Given the description of an element on the screen output the (x, y) to click on. 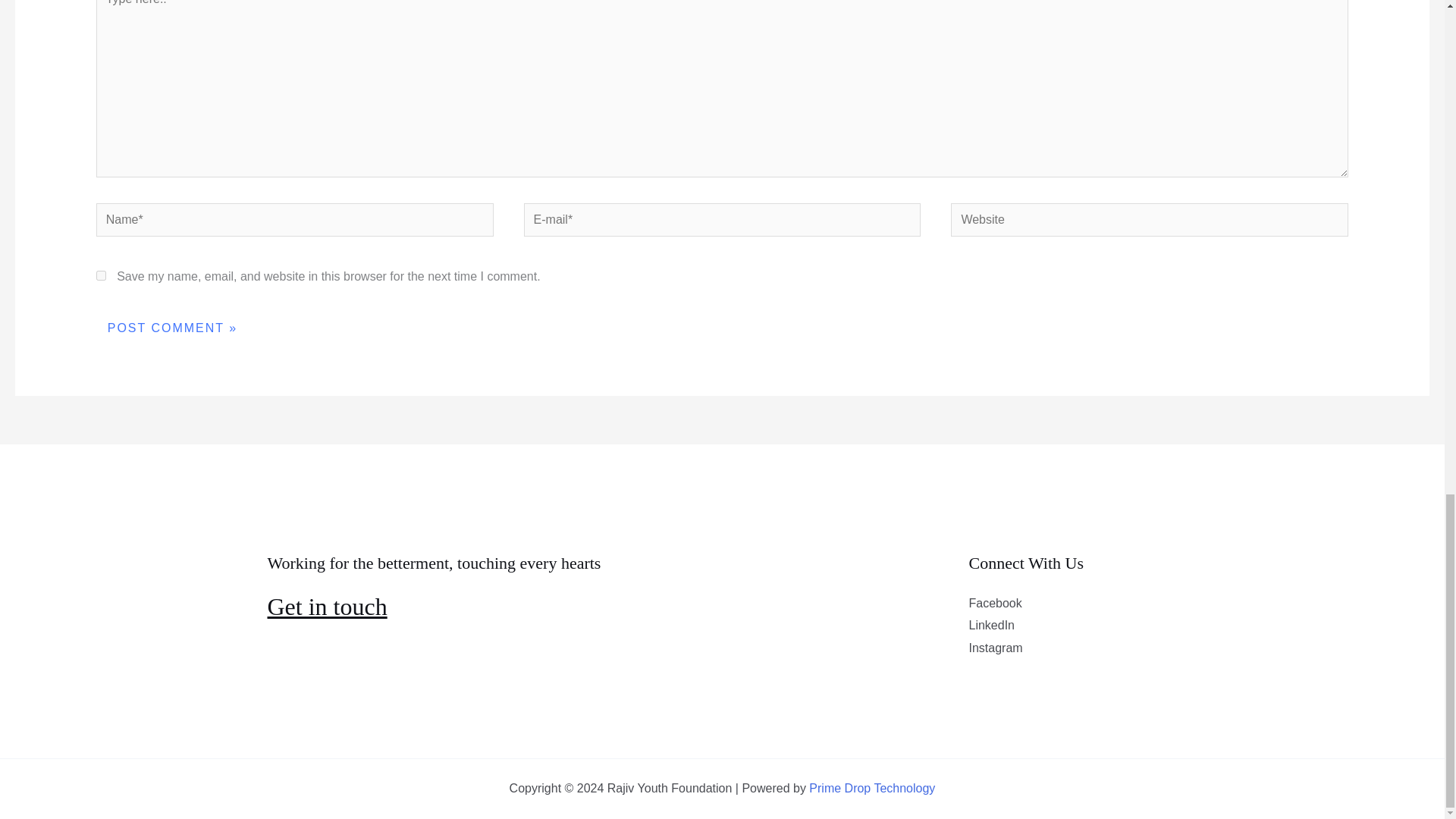
yes (101, 275)
Facebook (995, 603)
Get in touch (326, 605)
